Given the description of an element on the screen output the (x, y) to click on. 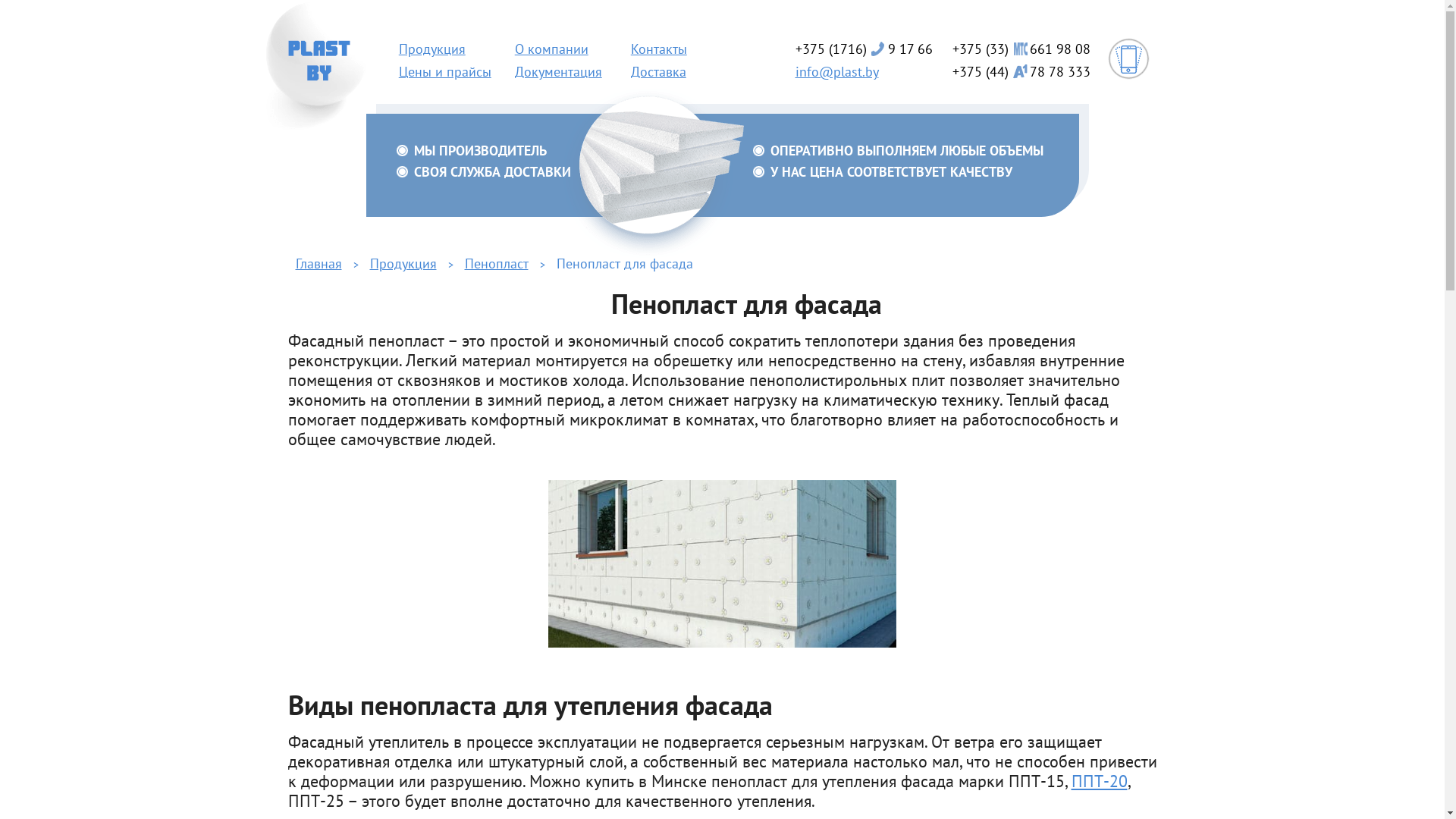
+375 (44) 78 78 333 Element type: text (1021, 71)
info@plast.by Element type: text (836, 71)
+375 (33) 661 98 08 Element type: text (1021, 48)
+375 (1716) 9 17 66 Element type: text (862, 48)
